Given the description of an element on the screen output the (x, y) to click on. 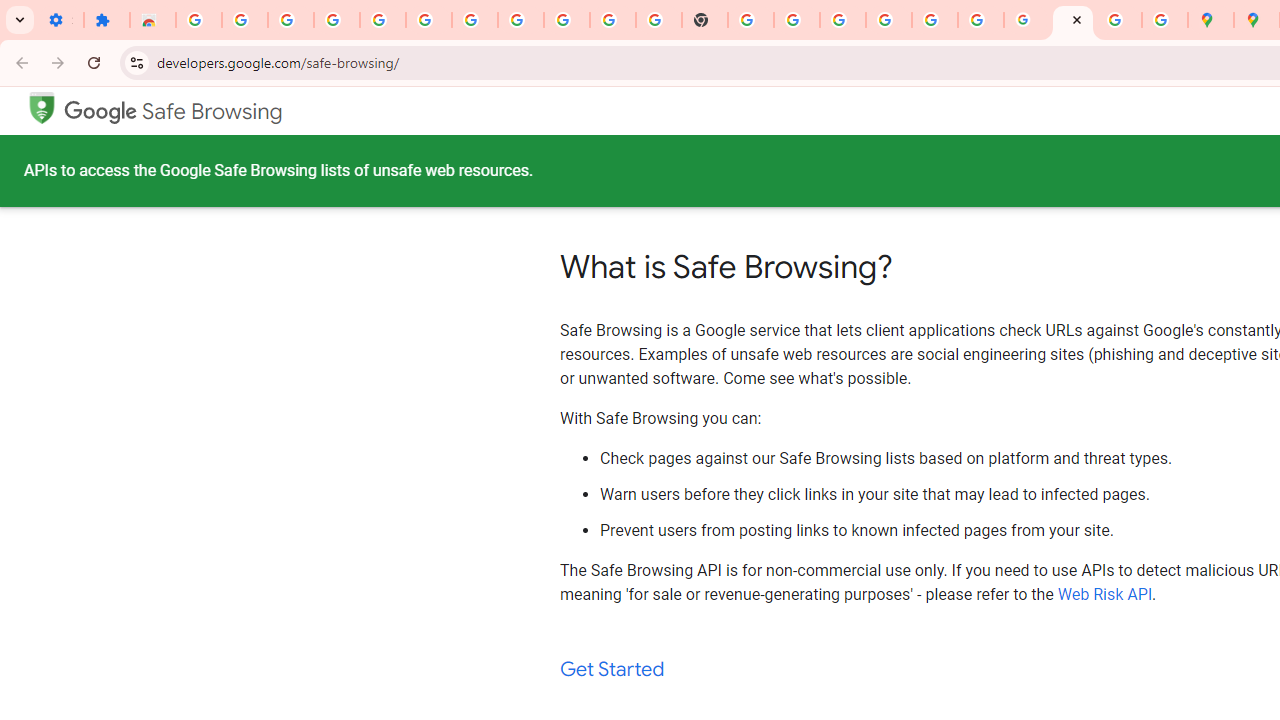
Safety in Our Products - Google Safety Center (1164, 20)
Google Safe Browsing (41, 106)
Google Account (567, 20)
Learn how to find your photos - Google Photos Help (382, 20)
Extensions (107, 20)
New Tab (705, 20)
Google Safe Browsing (173, 111)
Web Risk API (1105, 594)
